Given the description of an element on the screen output the (x, y) to click on. 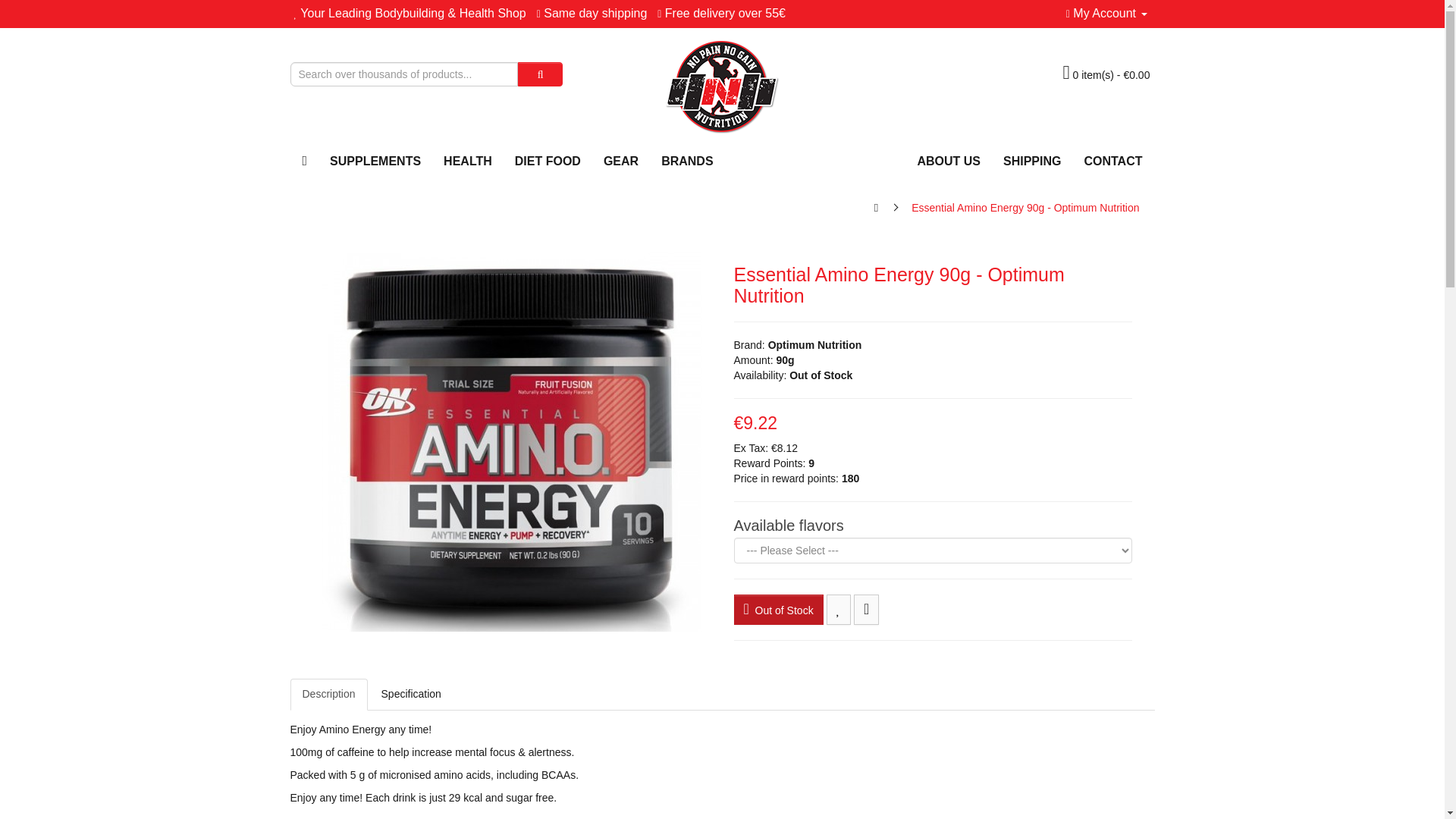
My Account (1106, 12)
My Account (1106, 12)
SUPPLEMENTS (375, 161)
No Pain No Gain Nutrition (721, 86)
